Given the description of an element on the screen output the (x, y) to click on. 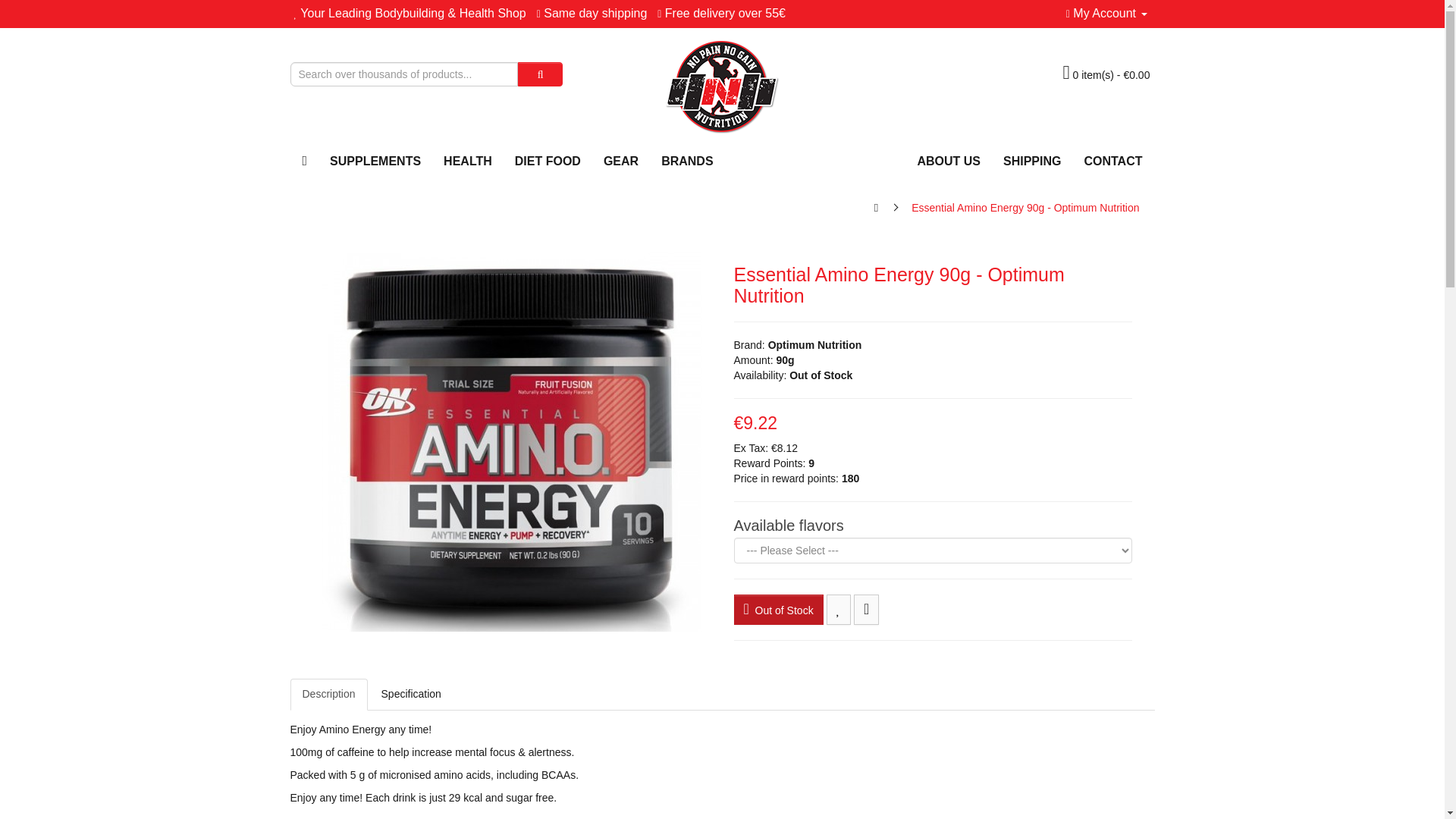
My Account (1106, 12)
My Account (1106, 12)
SUPPLEMENTS (375, 161)
No Pain No Gain Nutrition (721, 86)
